Given the description of an element on the screen output the (x, y) to click on. 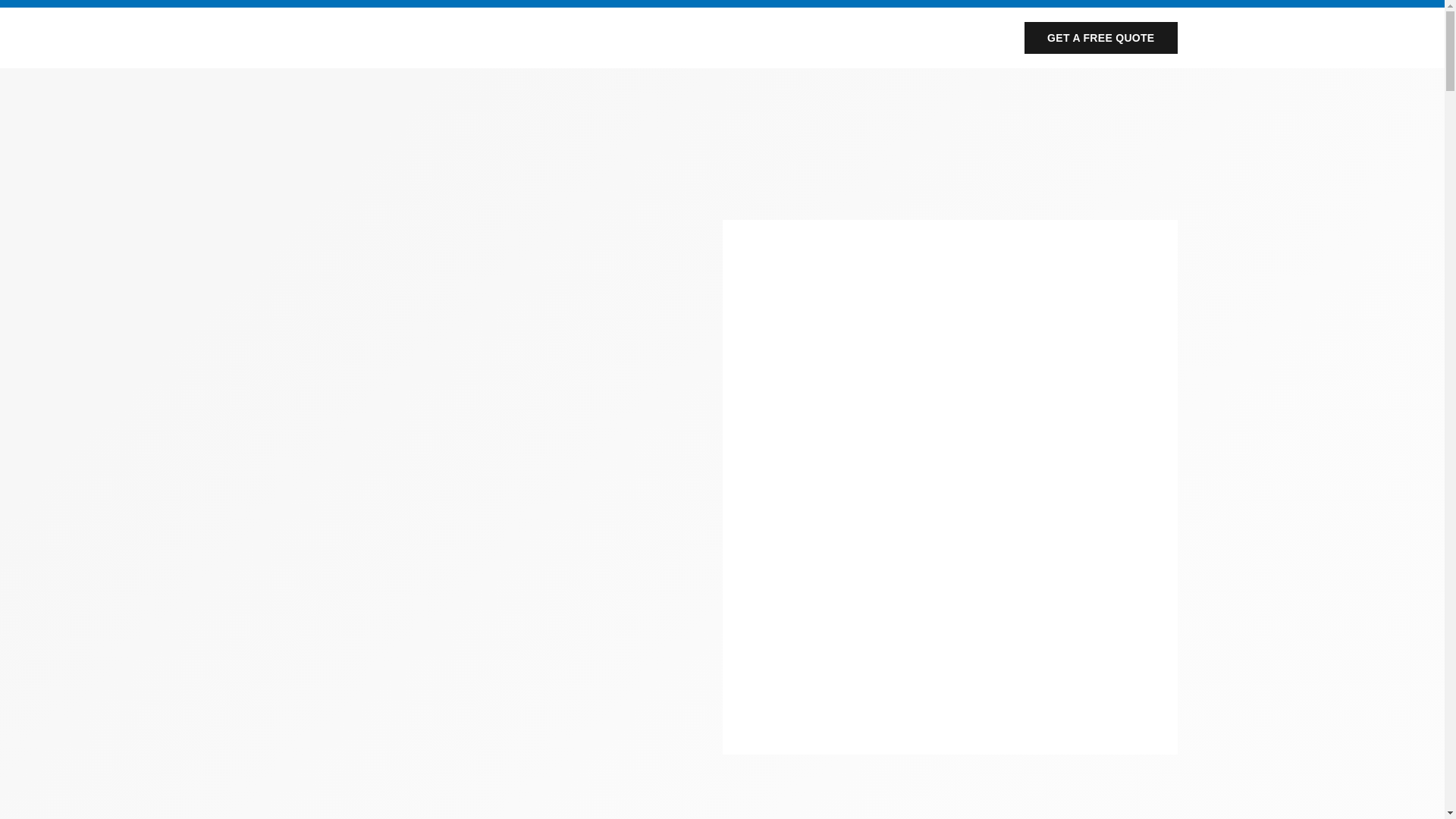
GET A FREE QUOTE (1100, 38)
GET A FREE QUOTE (1100, 38)
